Given the description of an element on the screen output the (x, y) to click on. 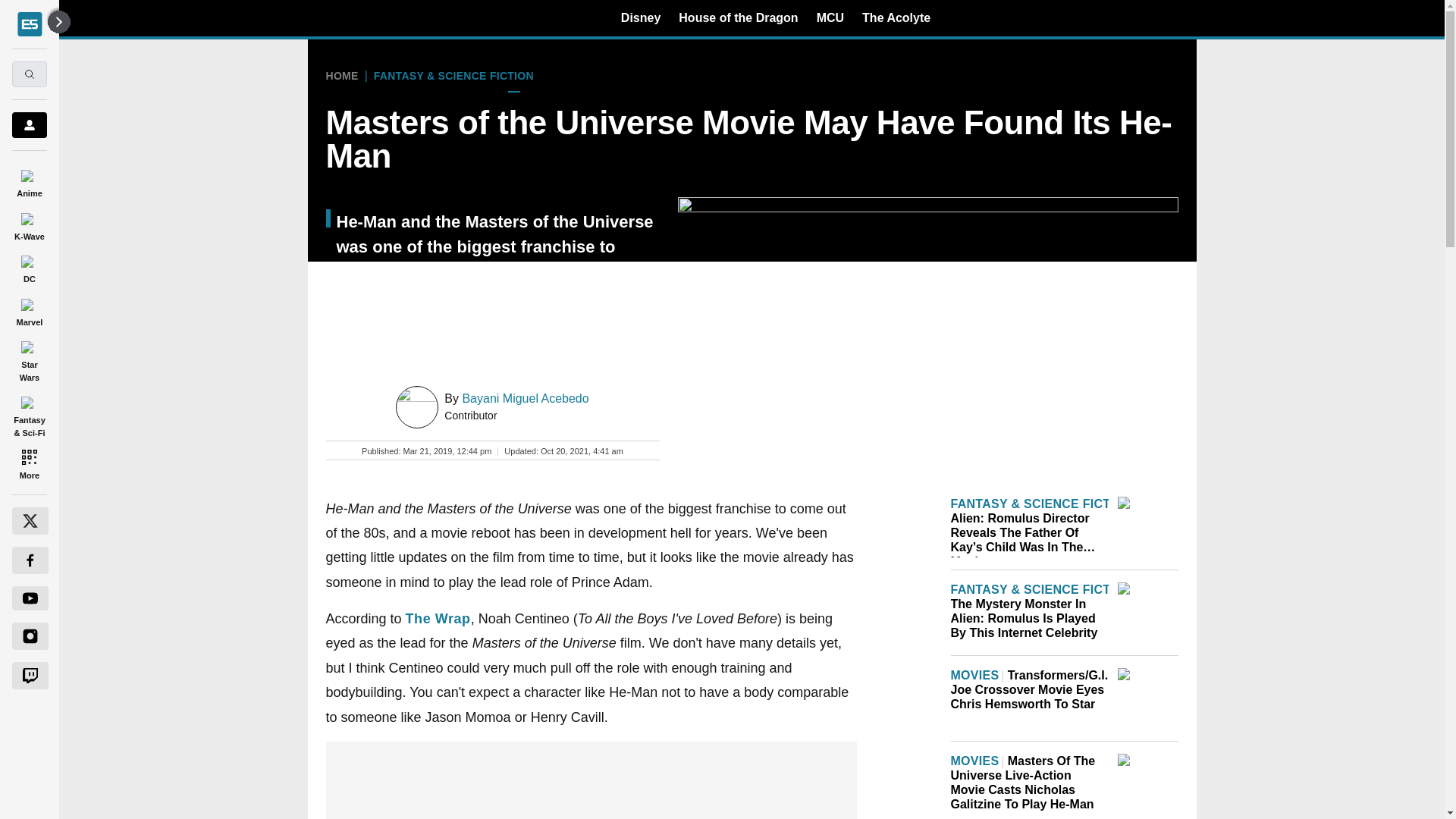
House of the Dragon (737, 18)
The Acolyte (895, 18)
MCU (830, 18)
DC (28, 266)
K-Wave (28, 224)
Disney (641, 18)
Marvel (28, 309)
More (28, 463)
Anime (28, 180)
